Given the description of an element on the screen output the (x, y) to click on. 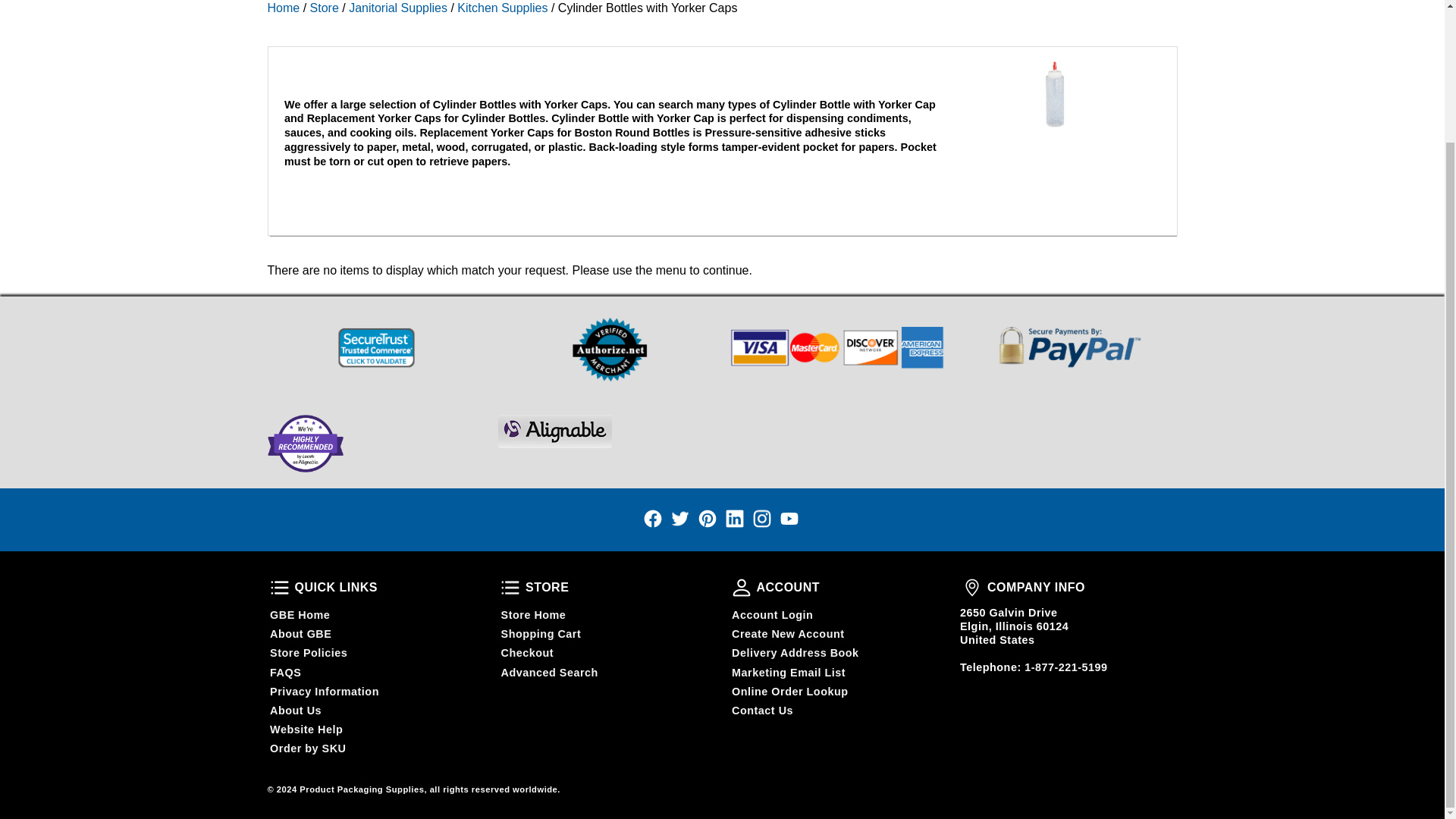
Janitorial Supplies (397, 7)
Home (282, 7)
Kitchen Supplies (502, 7)
Home (282, 7)
Store (324, 7)
Janitorial Supplies (397, 7)
Store (324, 7)
Kitchen Supplies (502, 7)
